Given the description of an element on the screen output the (x, y) to click on. 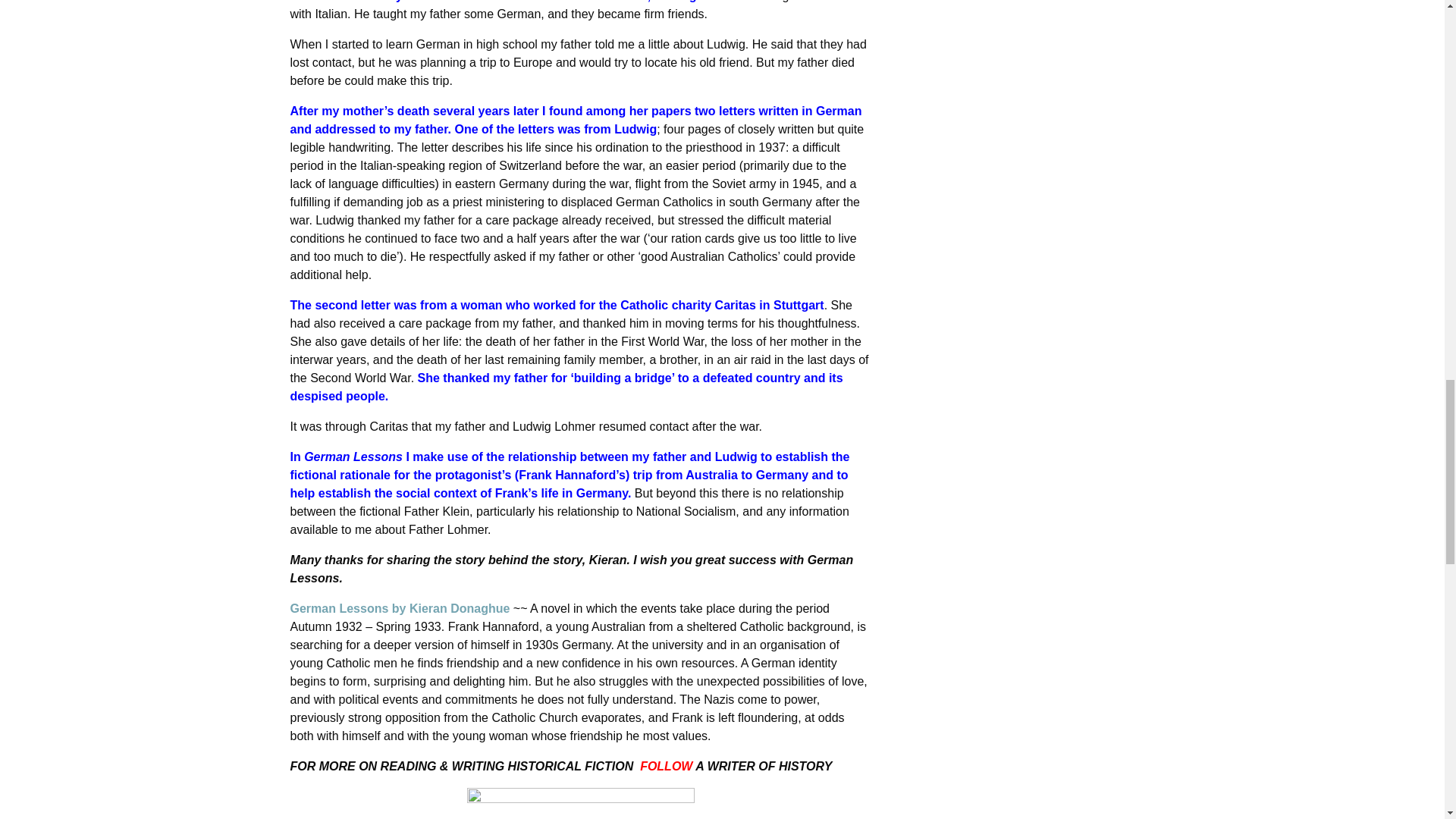
German Lessons by Kieran Donaghue (399, 608)
